Given the description of an element on the screen output the (x, y) to click on. 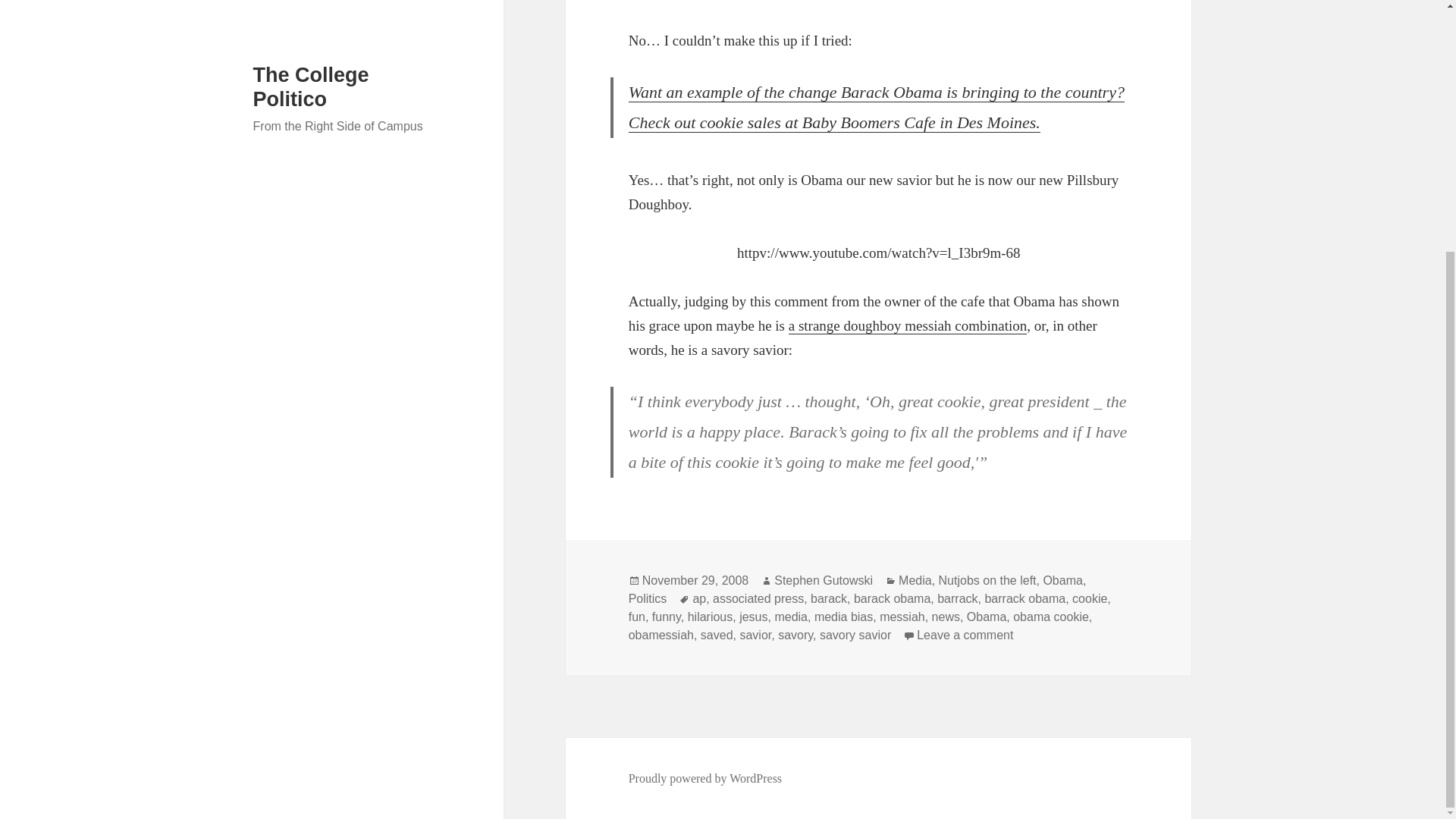
Obama (986, 617)
Proudly powered by WordPress (704, 778)
DC Examiner (876, 107)
obama cookie (1051, 617)
cookie (1088, 599)
news (945, 617)
barack (828, 599)
media (791, 617)
obamessiah (661, 635)
Media (914, 581)
barrack obama (1024, 599)
barrack (956, 599)
a strange doughboy messiah combination (908, 325)
saved (716, 635)
funny (666, 617)
